Given the description of an element on the screen output the (x, y) to click on. 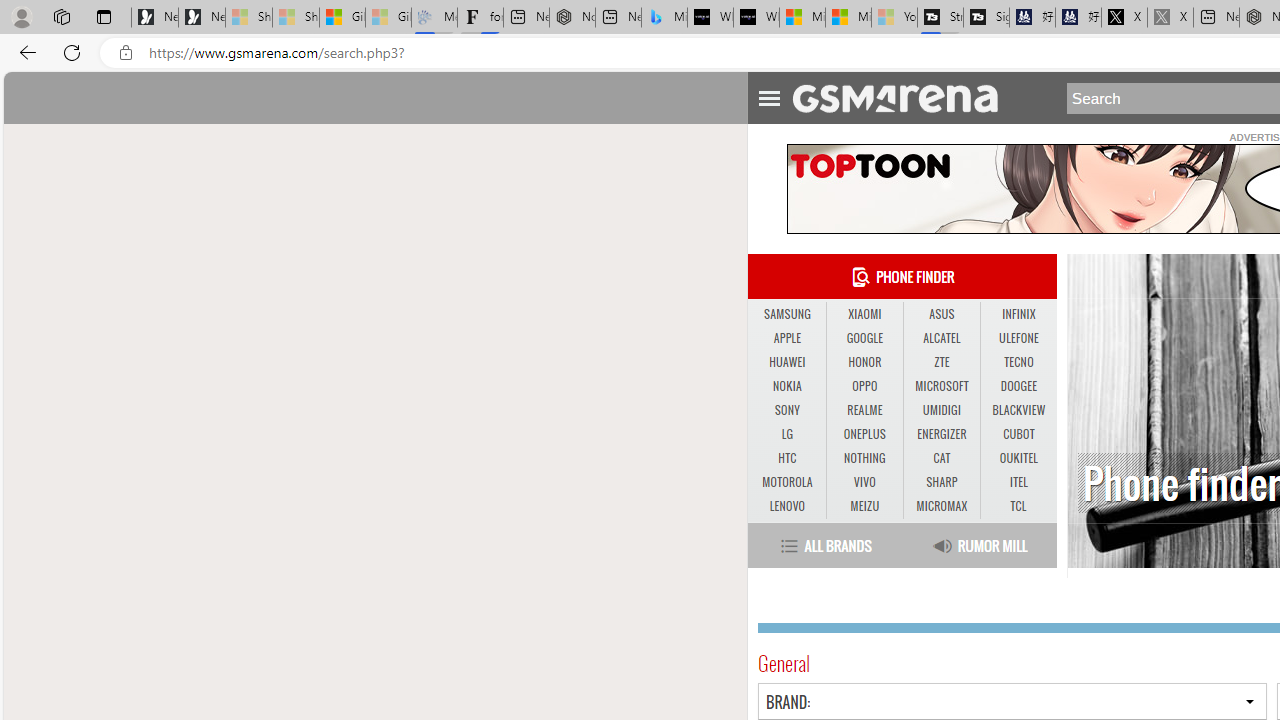
Newsletter Sign Up (202, 17)
ENERGIZER (941, 434)
XIAOMI (863, 313)
APPLE (786, 338)
LG (786, 434)
AutomationID: anchor (904, 97)
SAMSUNG (786, 313)
HUAWEI (786, 362)
HTC (786, 458)
ASUS (941, 314)
MICROSOFT (941, 385)
OUKITEL (1018, 457)
